Given the description of an element on the screen output the (x, y) to click on. 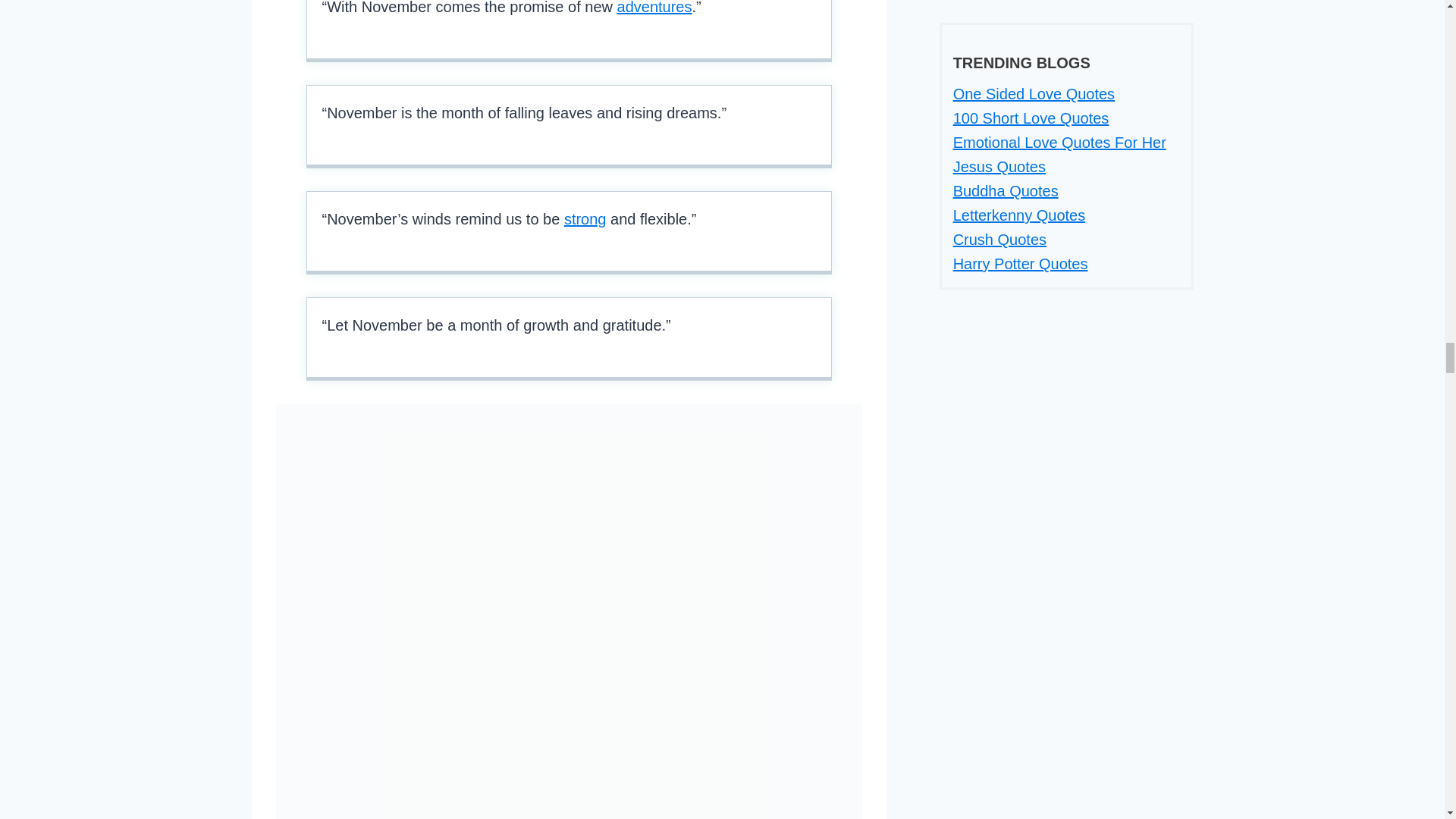
strong (585, 218)
adventures (655, 7)
